Given the description of an element on the screen output the (x, y) to click on. 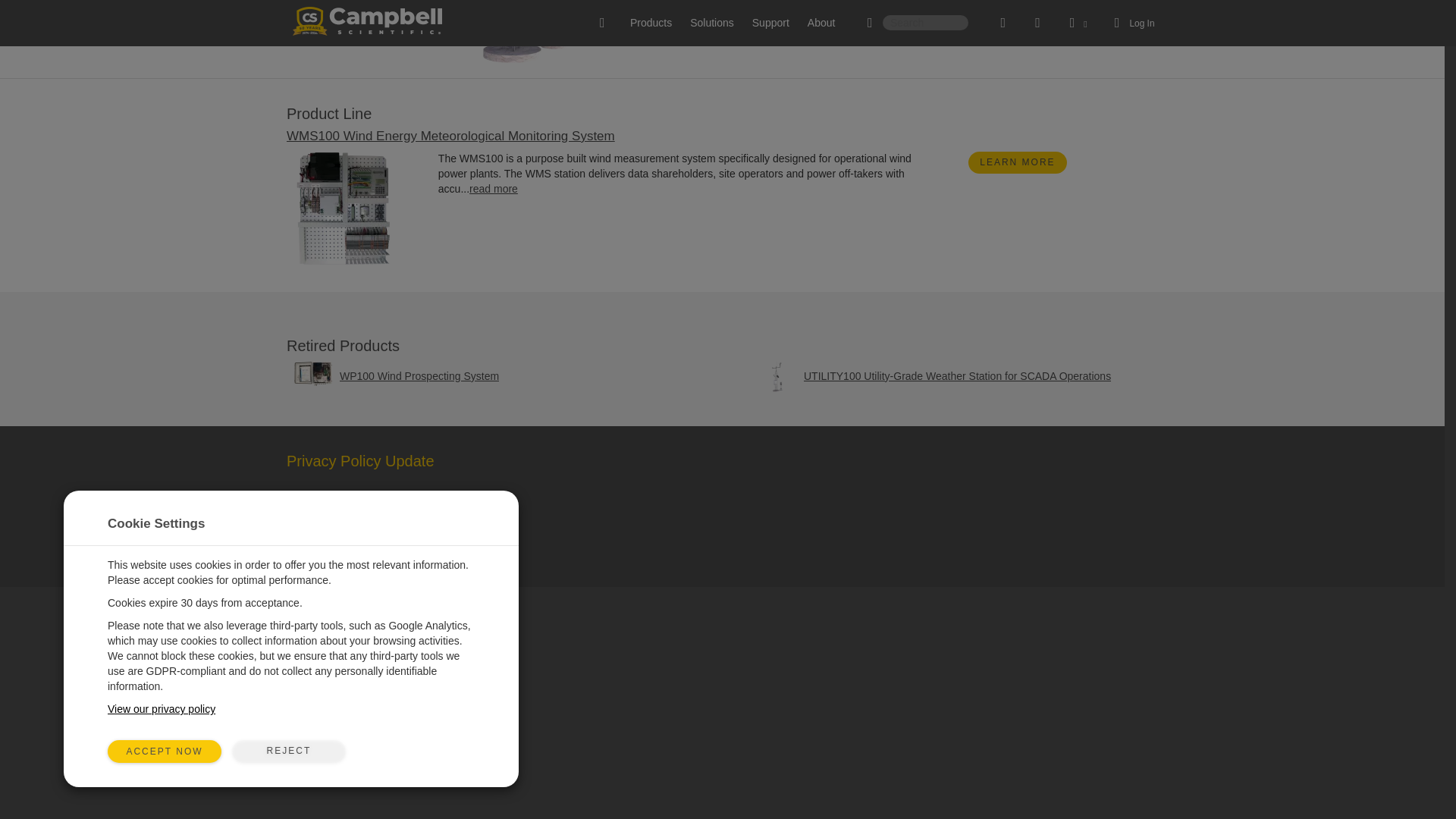
read more (493, 188)
WMS100 Wind Energy Meteorological Monitoring System (450, 135)
